Given the description of an element on the screen output the (x, y) to click on. 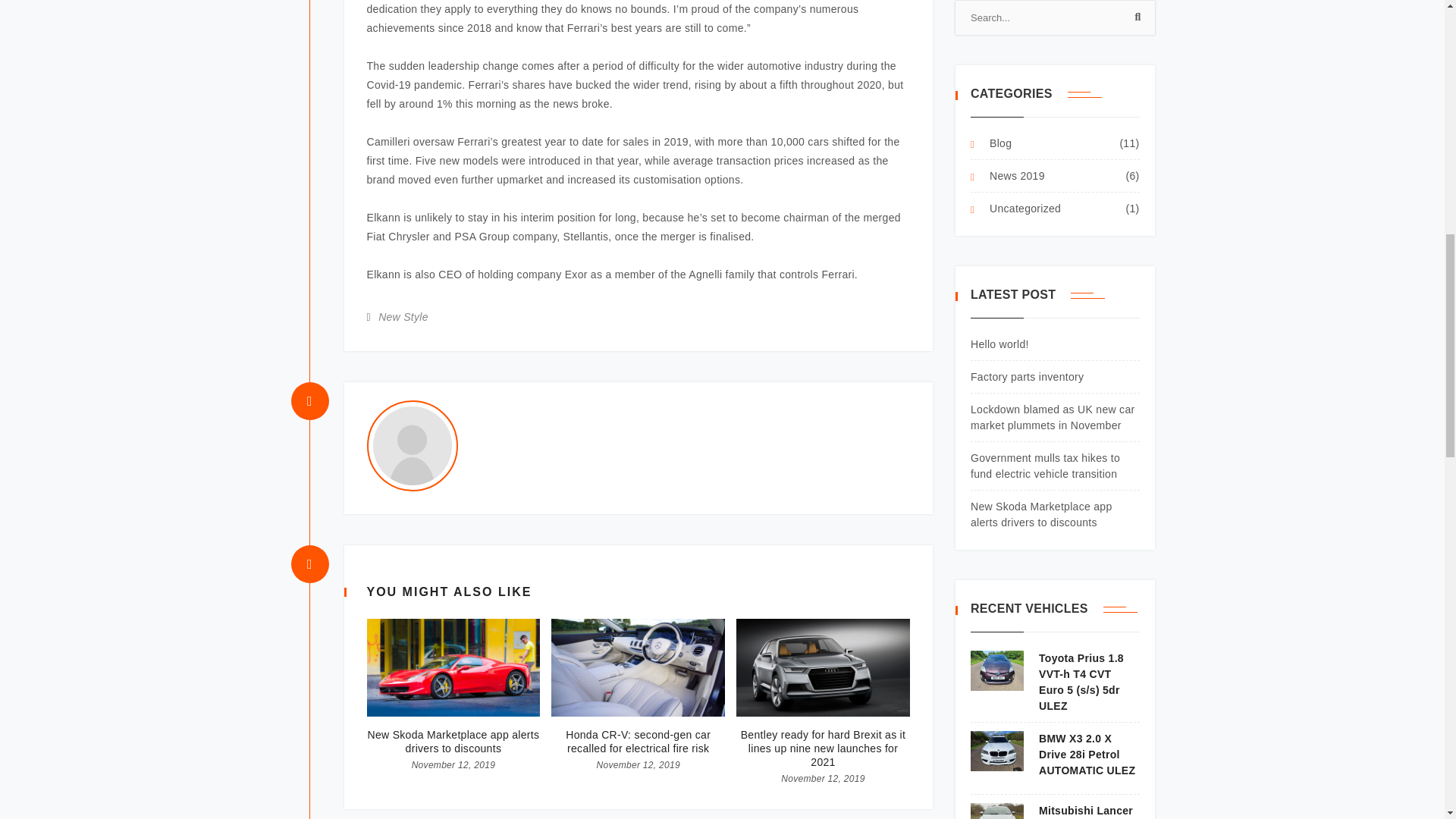
Uncategorized (1016, 208)
Factory parts inventory (1027, 377)
BMW X3 2.0 X Drive 28i Petrol AUTOMATIC ULEZ (1055, 754)
Search (1135, 19)
News 2019 (1008, 176)
Lockdown blamed as UK new car market plummets in November (1052, 417)
Honda CR-V: second-gen car recalled for electrical fire risk (638, 741)
Blog (991, 143)
Search (1135, 19)
New Skoda Marketplace app alerts drivers to discounts (453, 741)
New Skoda Marketplace app alerts drivers to discounts (1041, 514)
Search (1135, 19)
New Style (403, 316)
